Given the description of an element on the screen output the (x, y) to click on. 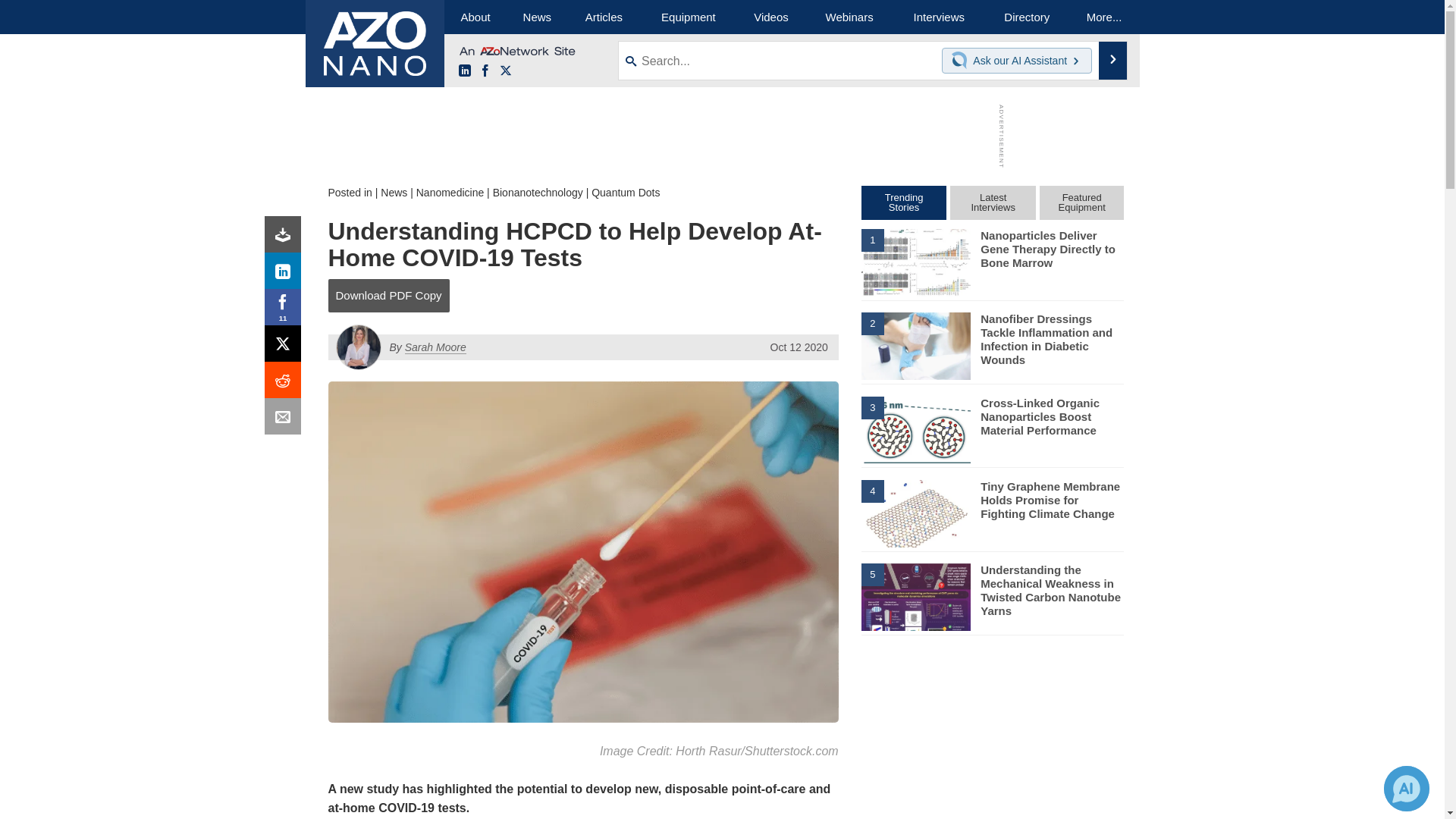
Download PDF copy (285, 238)
Bionanotechnology (538, 192)
About (475, 17)
LinkedIn (285, 275)
Equipment (688, 17)
Facebook (485, 71)
News (536, 17)
Videos (770, 17)
Reddit (285, 384)
Nanomedicine (450, 192)
News (393, 192)
Articles (603, 17)
LinkedIn (464, 71)
More... (1104, 17)
